Given the description of an element on the screen output the (x, y) to click on. 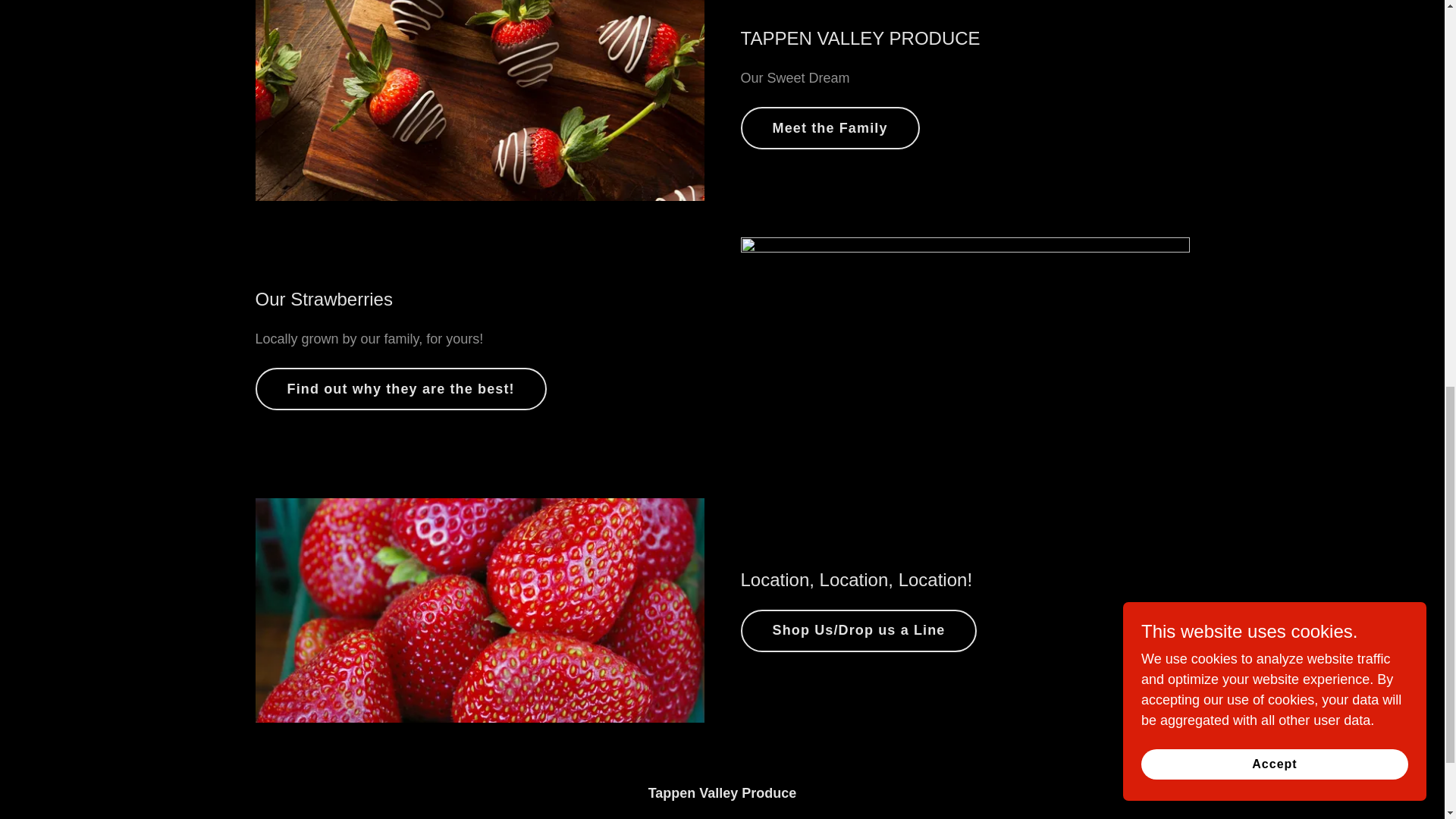
Meet the Family (828, 128)
Find out why they are the best! (400, 388)
